Given the description of an element on the screen output the (x, y) to click on. 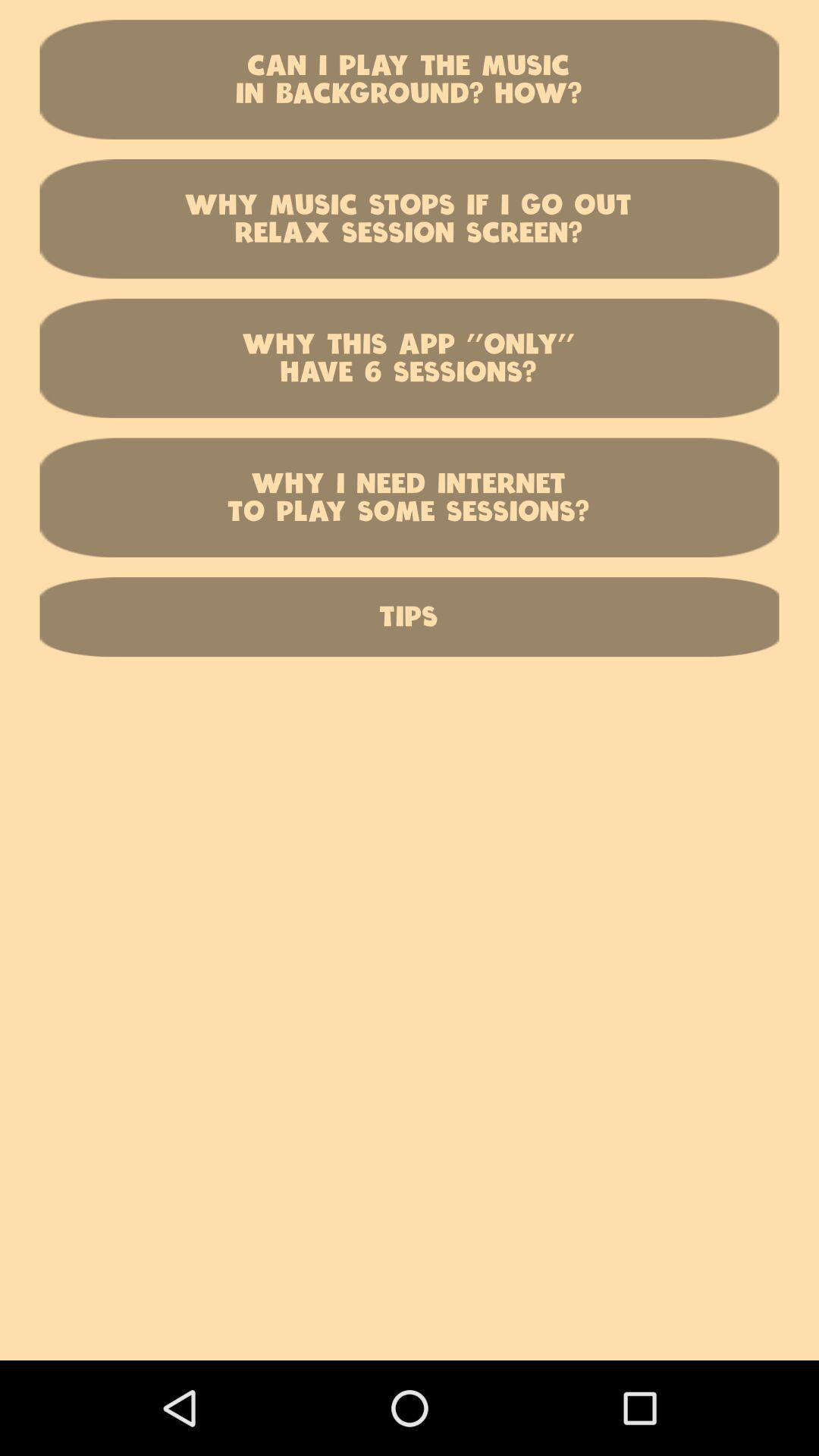
swipe until the tips item (409, 616)
